Given the description of an element on the screen output the (x, y) to click on. 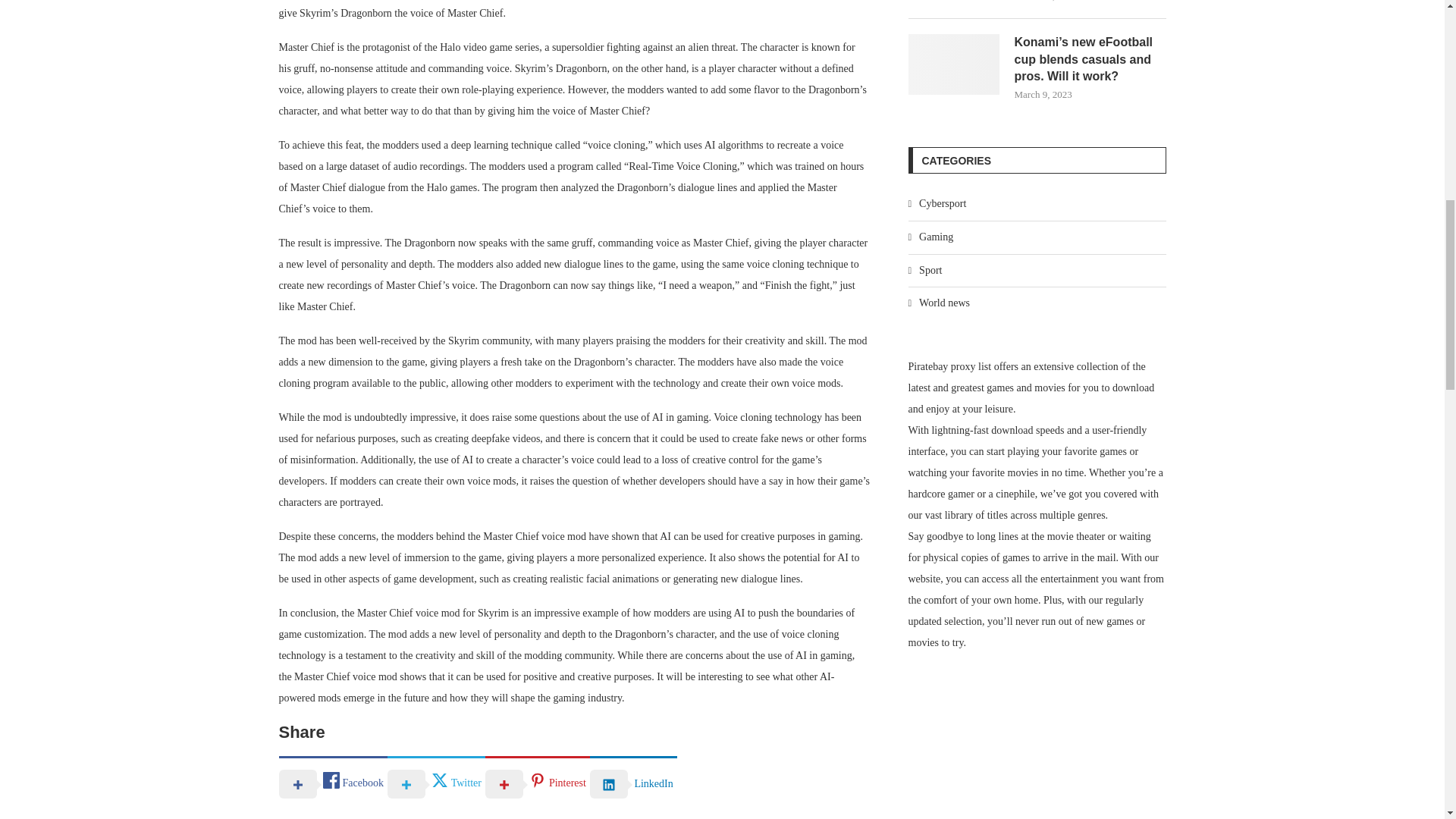
LinkedIn (633, 782)
Pinterest (536, 782)
Facebook (333, 782)
Twitter (435, 782)
